Given the description of an element on the screen output the (x, y) to click on. 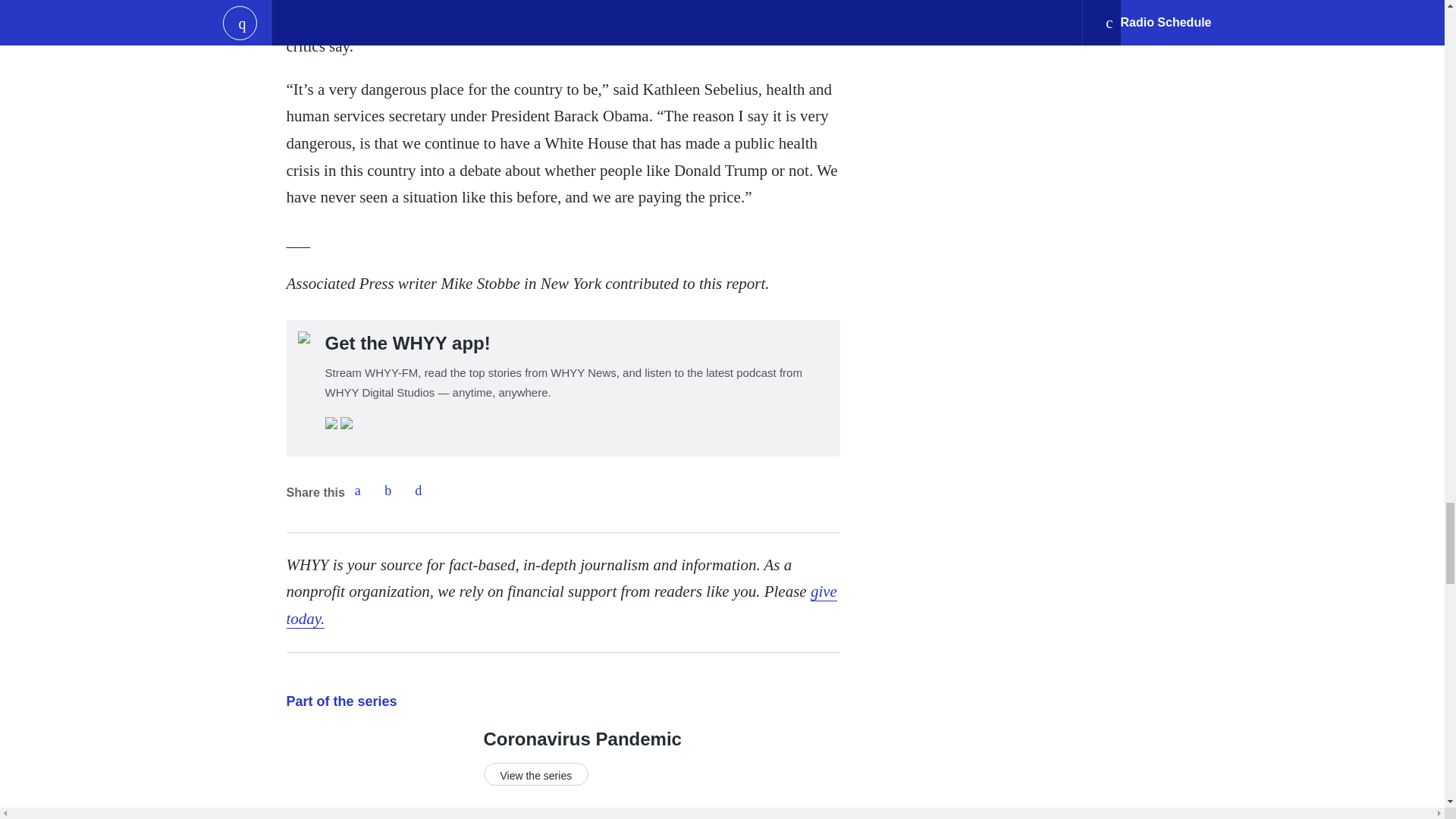
Email (418, 490)
Twitter (387, 490)
Facebook (357, 490)
